Given the description of an element on the screen output the (x, y) to click on. 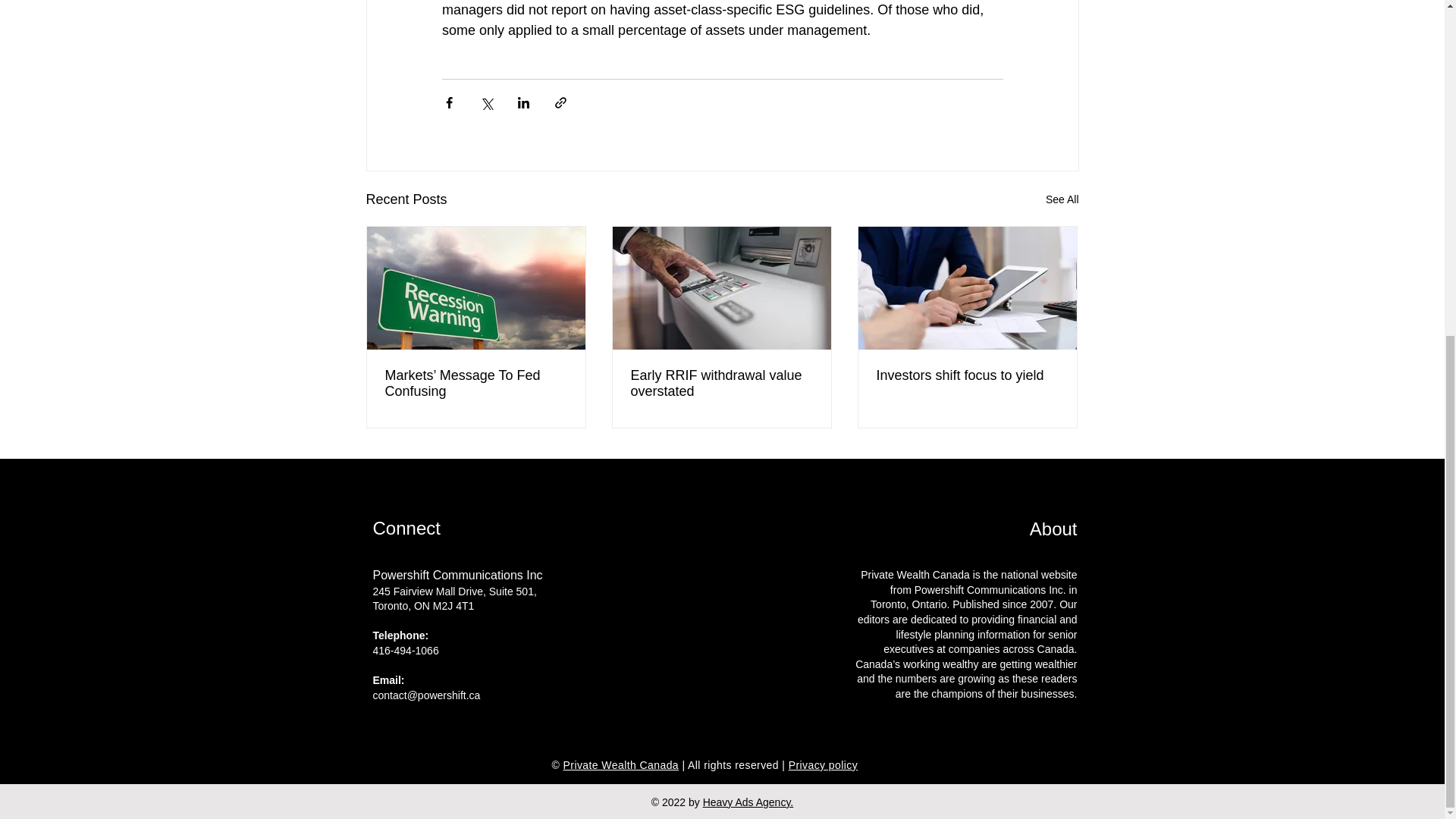
Early RRIF withdrawal value overstated (721, 383)
Privacy policy (823, 765)
See All (1061, 199)
Investors shift focus to yield (967, 375)
Private Wealth Canada (621, 765)
Heavy Ads Agency. (748, 802)
